Given the description of an element on the screen output the (x, y) to click on. 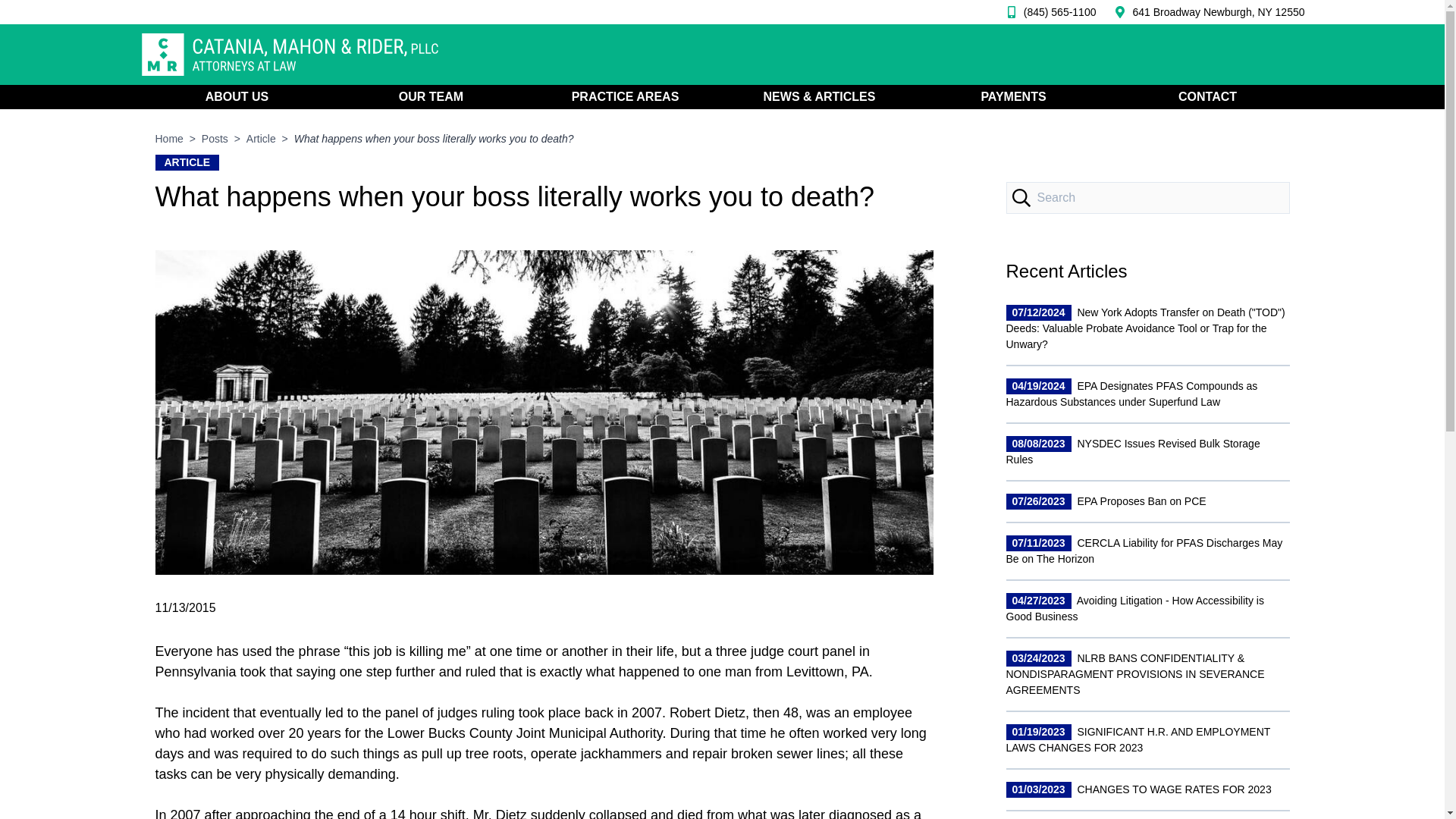
OUR TEAM (430, 96)
CMR Phone Number (1047, 12)
ABOUT US (236, 96)
Posts (215, 138)
Article (261, 138)
Home (168, 138)
641 Broadway Newburgh, NY 12550 (1218, 12)
ARTICLE (186, 162)
CMR Phone Number (1218, 12)
PRACTICE AREAS (624, 96)
PAYMENTS (1012, 96)
CONTACT (1206, 96)
